Given the description of an element on the screen output the (x, y) to click on. 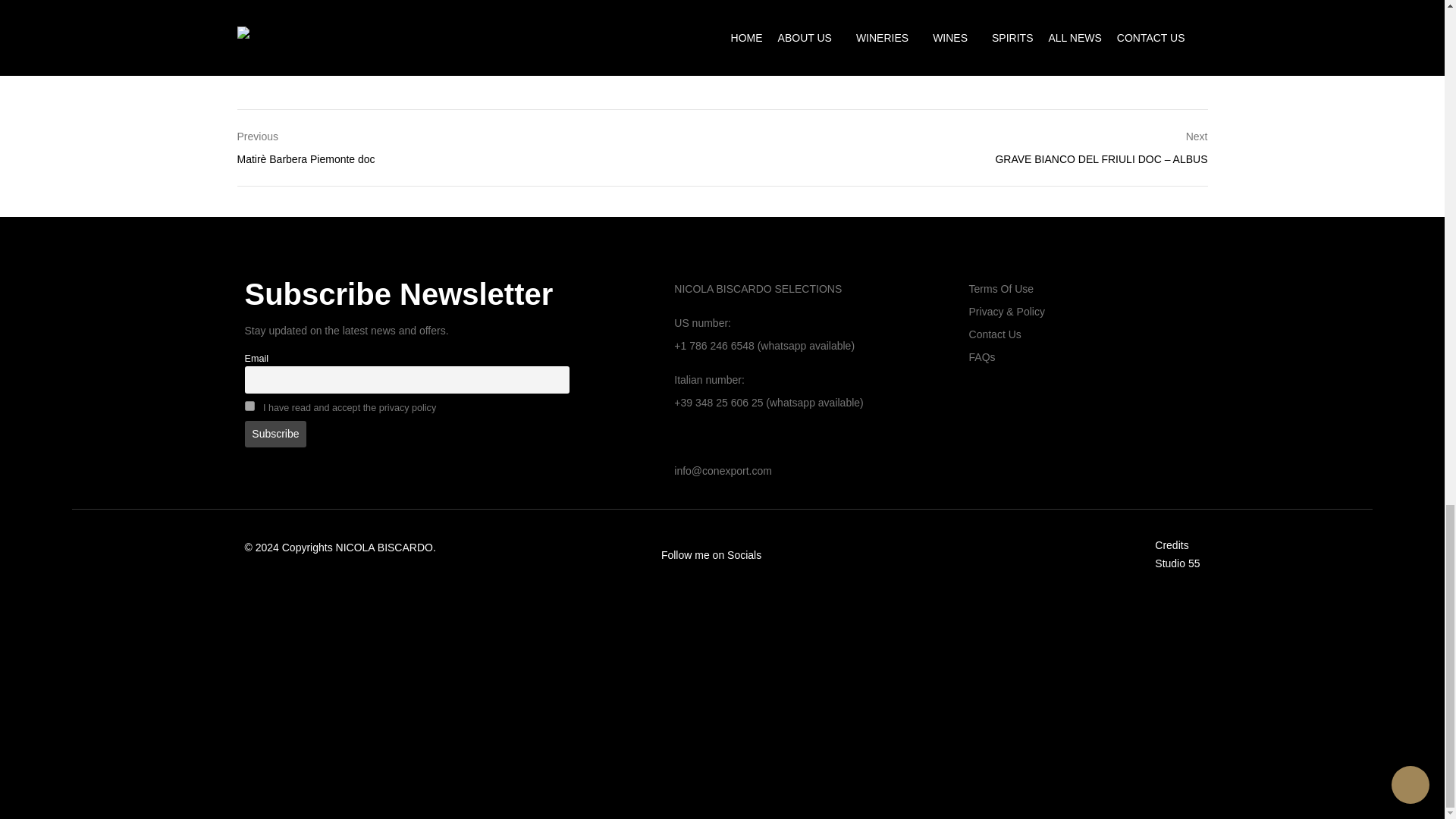
Whatsapp (1026, 51)
whatsapp (1026, 28)
on (248, 406)
Subscribe (274, 433)
Email (1026, 8)
